Given the description of an element on the screen output the (x, y) to click on. 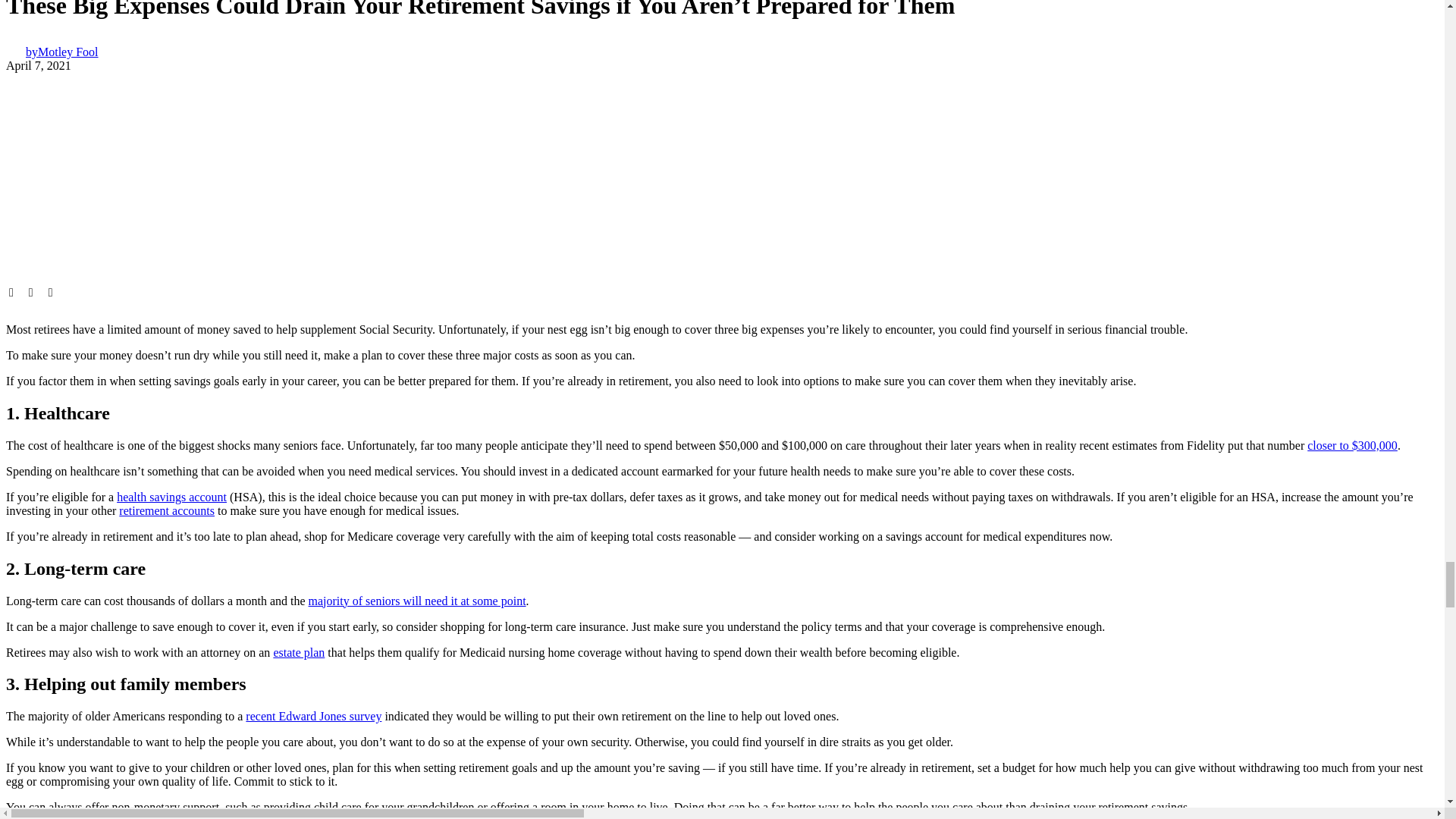
byMotley Fool (52, 51)
recent Edward Jones survey (313, 716)
majority of seniors will need it at some point (416, 600)
View all posts by Motley Fool (52, 51)
retirement accounts (166, 510)
health savings account (171, 496)
estate plan (298, 652)
